Given the description of an element on the screen output the (x, y) to click on. 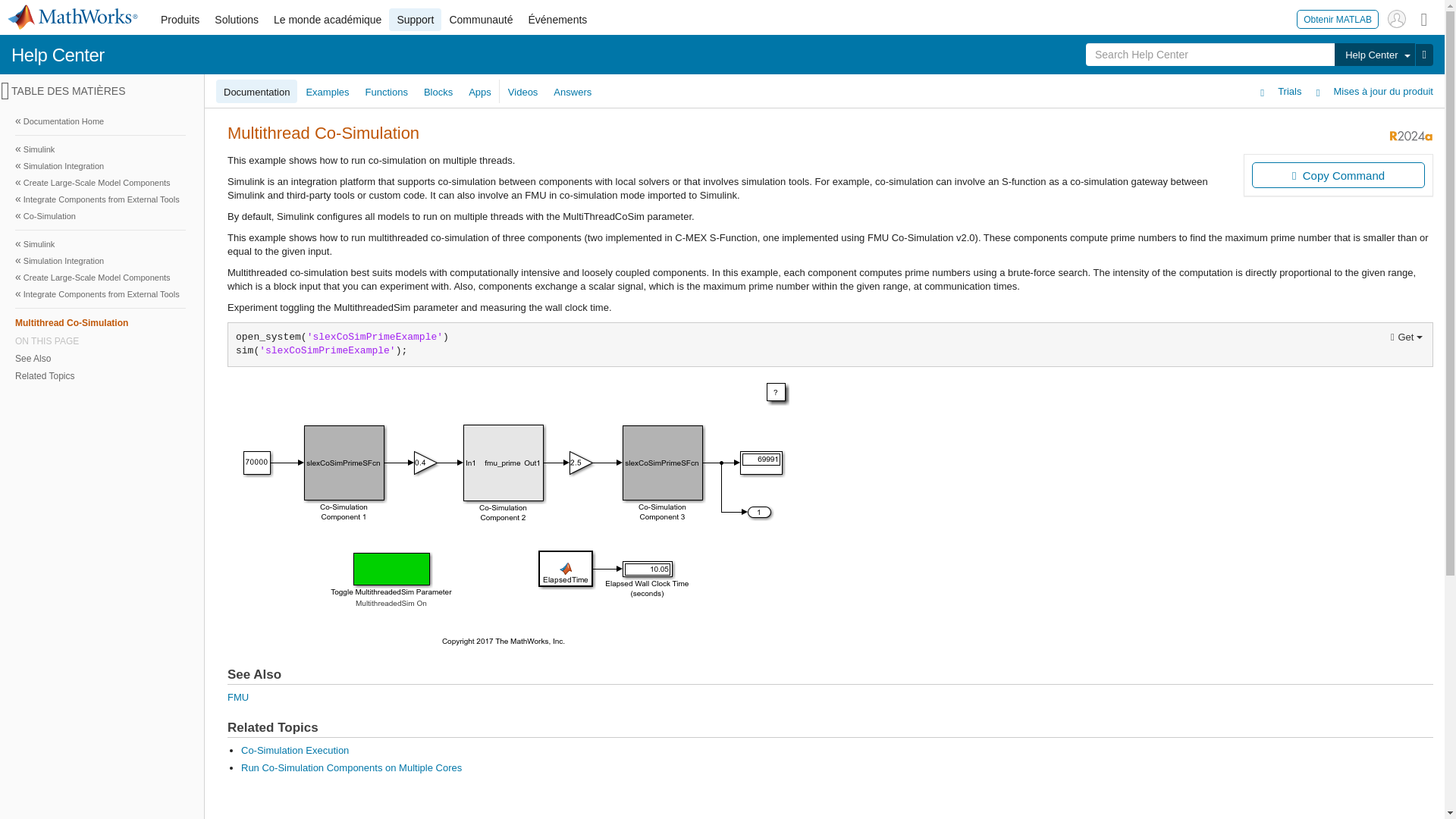
Obtenir MATLAB (1337, 18)
Se connecter (1396, 18)
Multithread Co-Simulation (100, 322)
Support (414, 19)
ON THIS PAGE (100, 340)
Matrix Menu (1423, 18)
Produits (179, 19)
Solutions (236, 19)
